Given the description of an element on the screen output the (x, y) to click on. 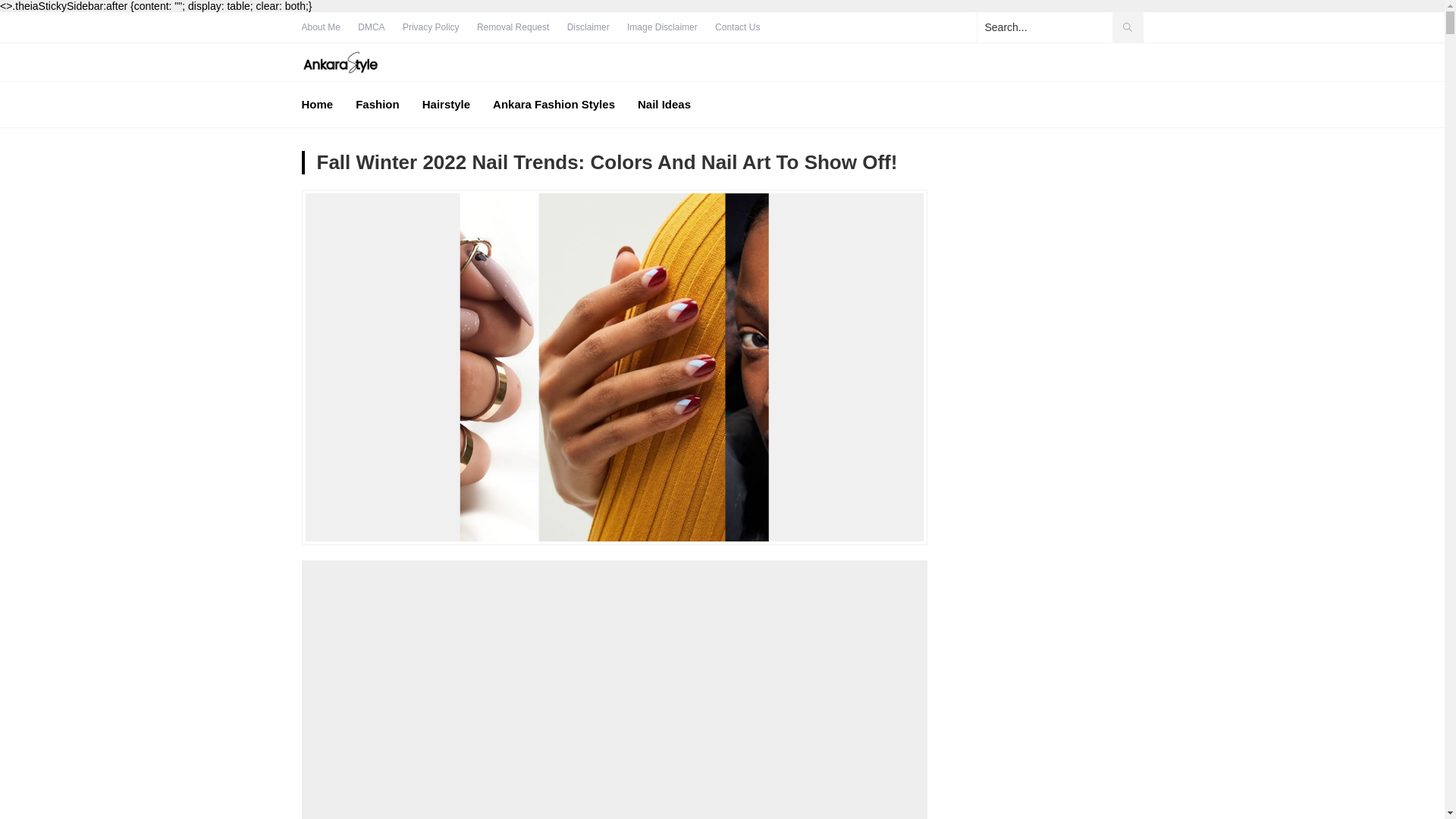
DMCA (371, 27)
Image Disclaimer (662, 27)
Removal Request (512, 27)
Search... (1058, 27)
Nail Ideas (663, 104)
Advertisement (613, 696)
Privacy Policy (431, 27)
About Me (320, 27)
Fashion ideas (339, 61)
Contact Us (737, 27)
